Given the description of an element on the screen output the (x, y) to click on. 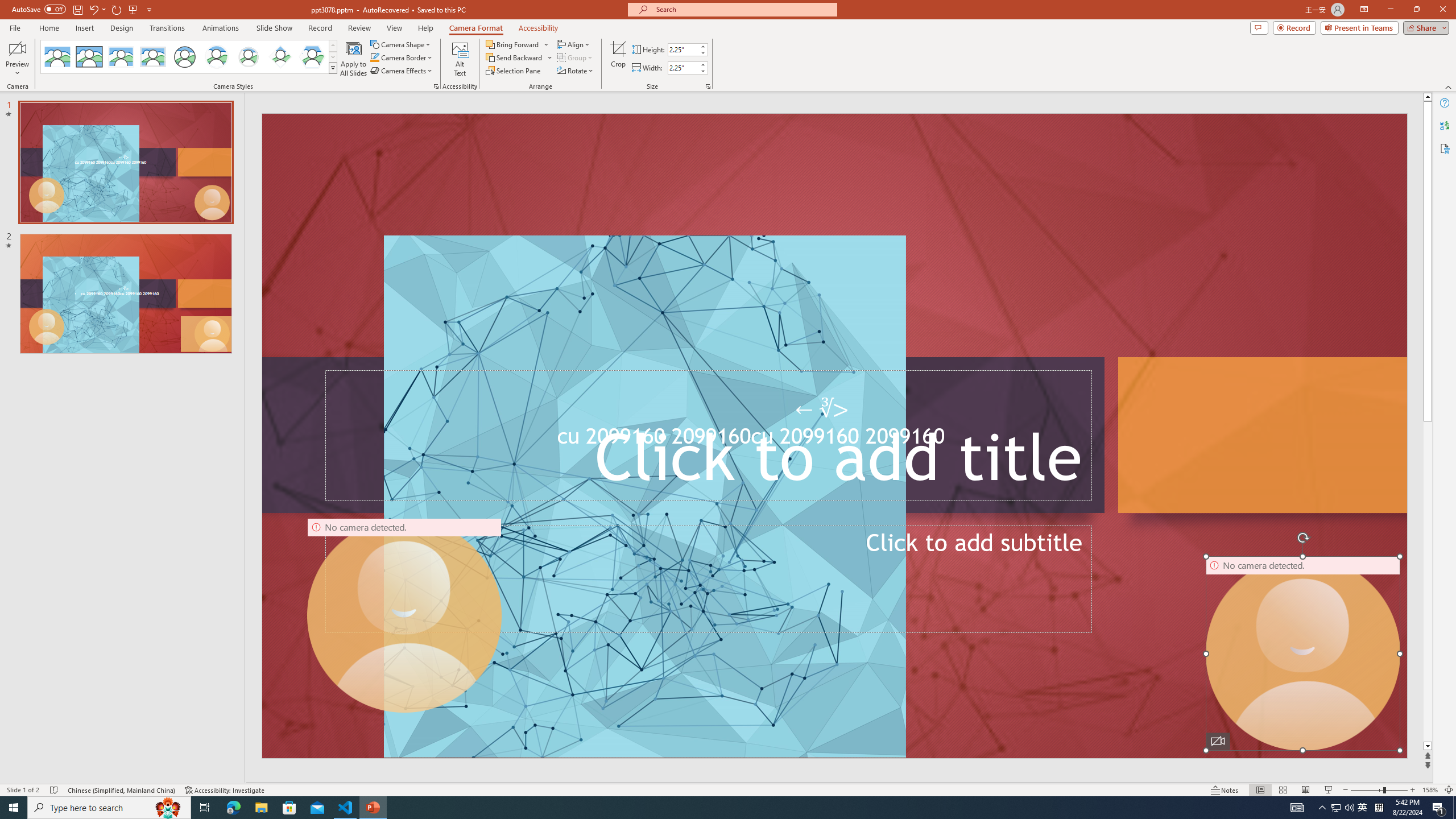
Center Shadow Diamond (280, 56)
Center Shadow Hexagon (312, 56)
Camera Border (401, 56)
